Given the description of an element on the screen output the (x, y) to click on. 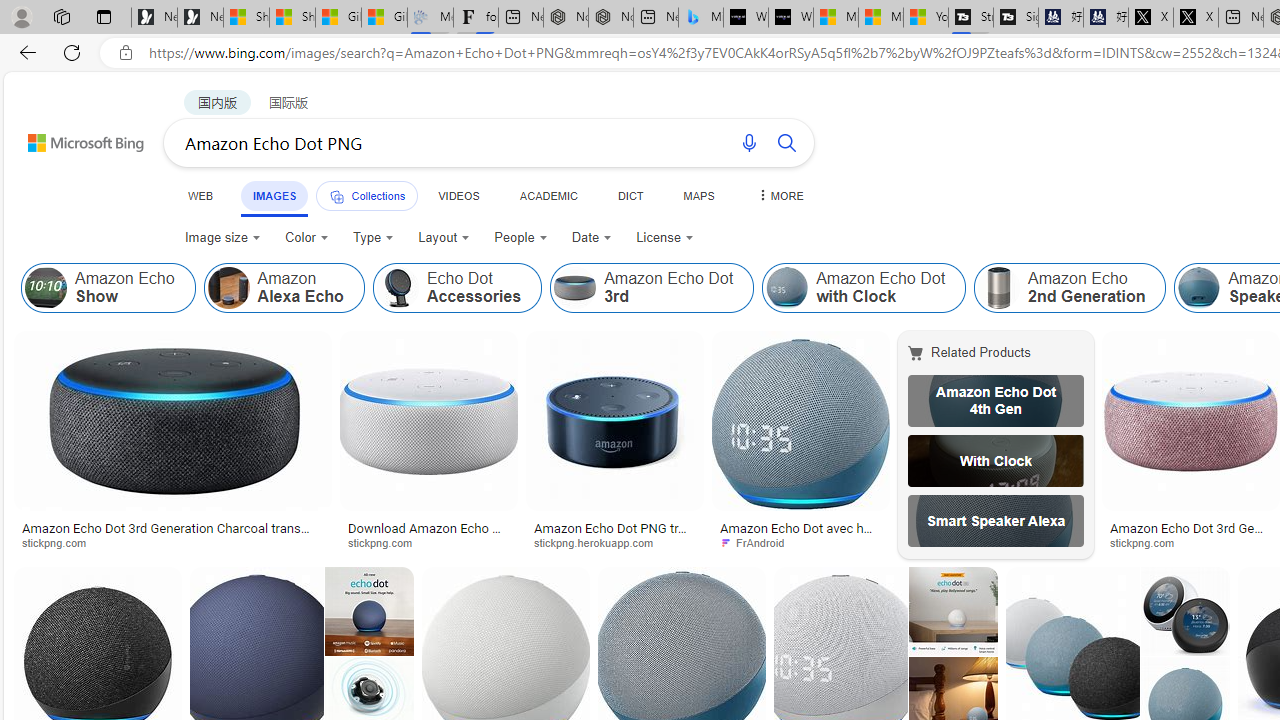
Gilma and Hector both pose tropical trouble for Hawaii (384, 17)
Search using voice (748, 142)
Amazon Echo Dot PNG transparente - StickPNG (615, 534)
Amazon Alexa Echo (228, 287)
Amazon Echo Show (107, 287)
Type (372, 237)
Type (373, 237)
Amazon Echo Dot 3rd (651, 287)
WEB (201, 195)
Echo Dot Accessories (456, 287)
